Given the description of an element on the screen output the (x, y) to click on. 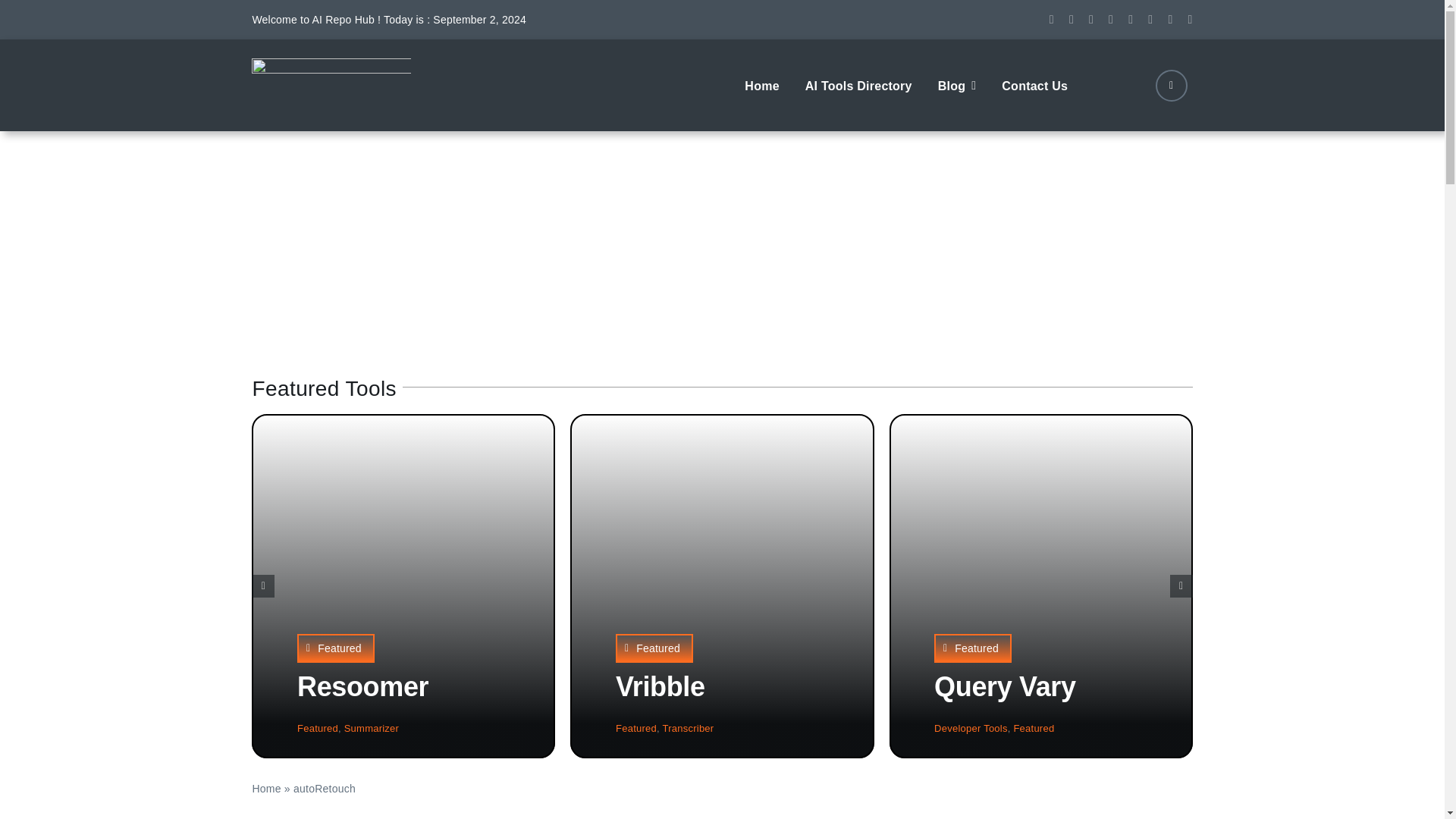
Featured (1033, 727)
Summarizer (370, 727)
Featured (654, 647)
Contact Us (1034, 84)
Featured (635, 727)
Developer Tools (970, 727)
Featured (317, 727)
Featured (335, 647)
Featured (972, 647)
Vribble (659, 685)
